Given the description of an element on the screen output the (x, y) to click on. 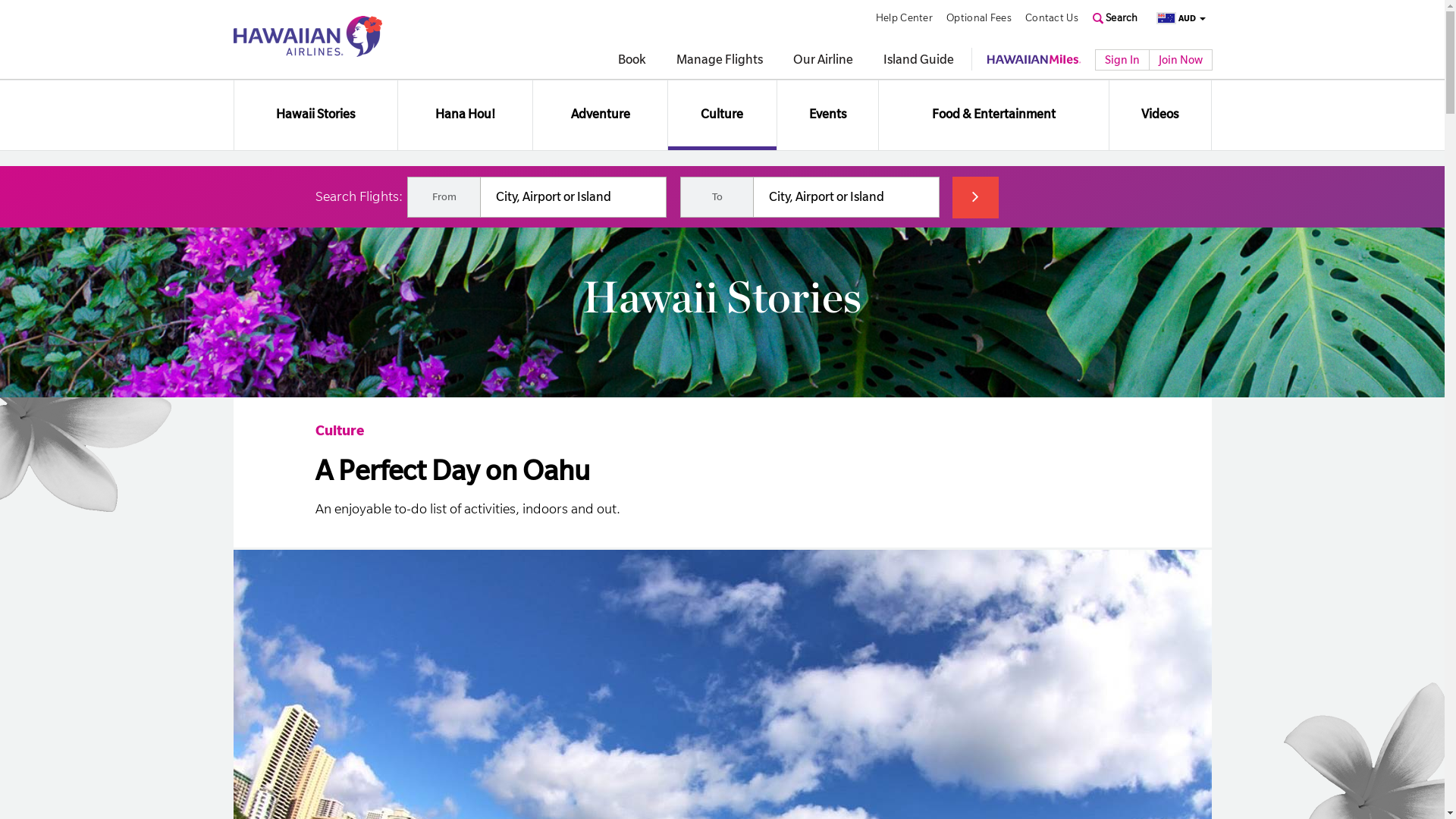
Food & Entertainment Element type: text (993, 114)
Events Element type: text (827, 114)
Search Element type: text (1115, 17)
Hana Hou! Element type: text (465, 114)
AUD Element type: text (1176, 18)
Hawaiian Airlines Element type: text (307, 35)
Our Airline Element type: text (823, 60)
Manage Flights Element type: text (719, 60)
Island Guide Element type: text (917, 60)
Culture Element type: text (722, 114)
Culture Element type: text (339, 430)
Optional Fees Element type: text (978, 17)
Sign In Element type: text (1122, 59)
Videos Element type: text (1159, 114)
Contact Us Element type: text (1051, 17)
Join Now Element type: text (1179, 59)
Book Element type: text (631, 60)
Adventure Element type: text (599, 114)
Hawaii Stories Element type: text (314, 114)
[header.hawaiianmilestext] Element type: text (1034, 58)
